Given the description of an element on the screen output the (x, y) to click on. 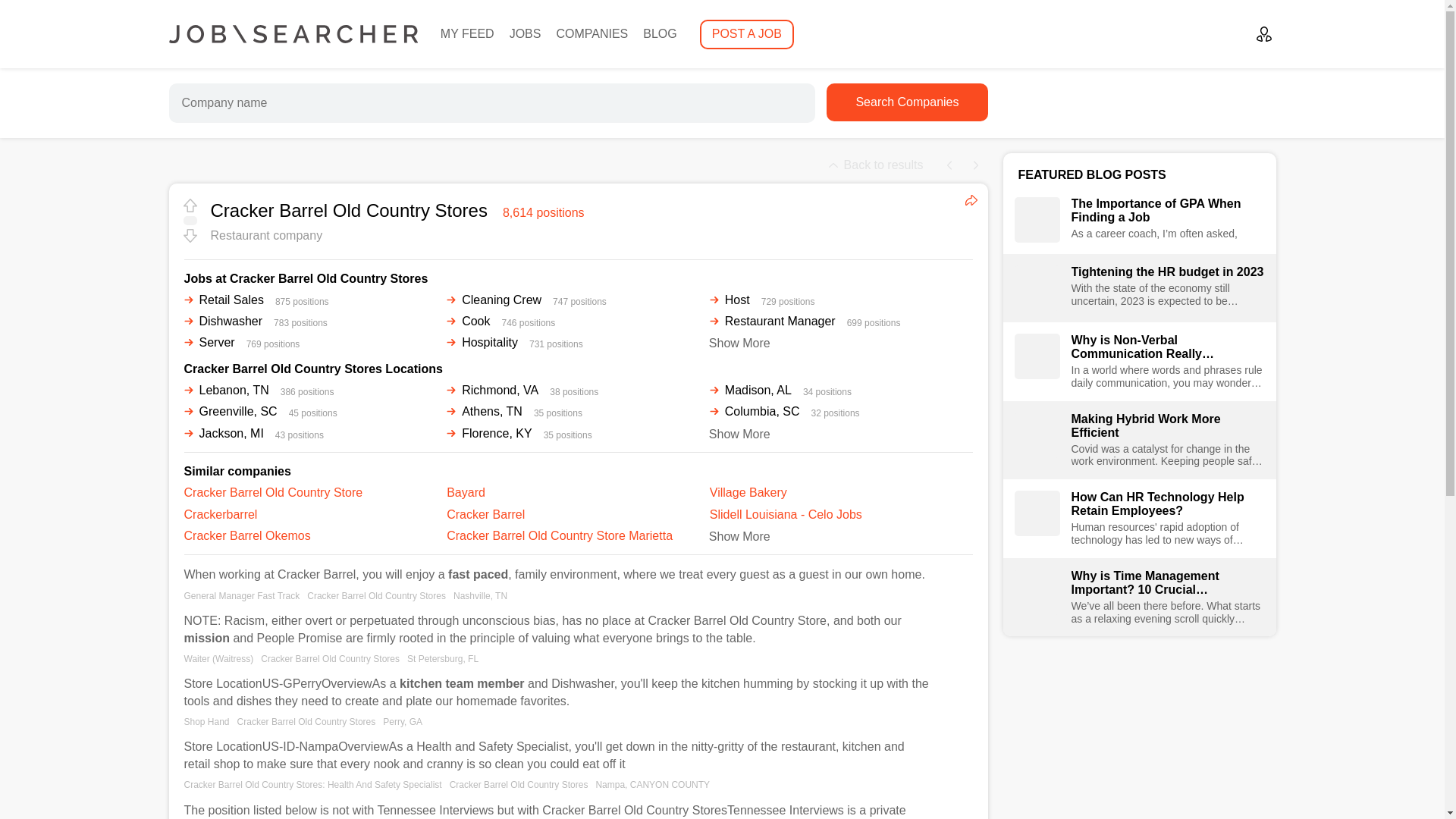
Hospitality (482, 341)
386 positions (307, 391)
45 positions (312, 412)
Search Companies (907, 102)
747 positions (580, 301)
Lebanon, TN (225, 390)
Server (208, 341)
699 positions (874, 322)
8,614 positions (543, 212)
Cook (467, 320)
Cleaning Crew (493, 299)
731 positions (556, 343)
Host (729, 299)
COMPANIES (591, 33)
875 positions (302, 301)
